Given the description of an element on the screen output the (x, y) to click on. 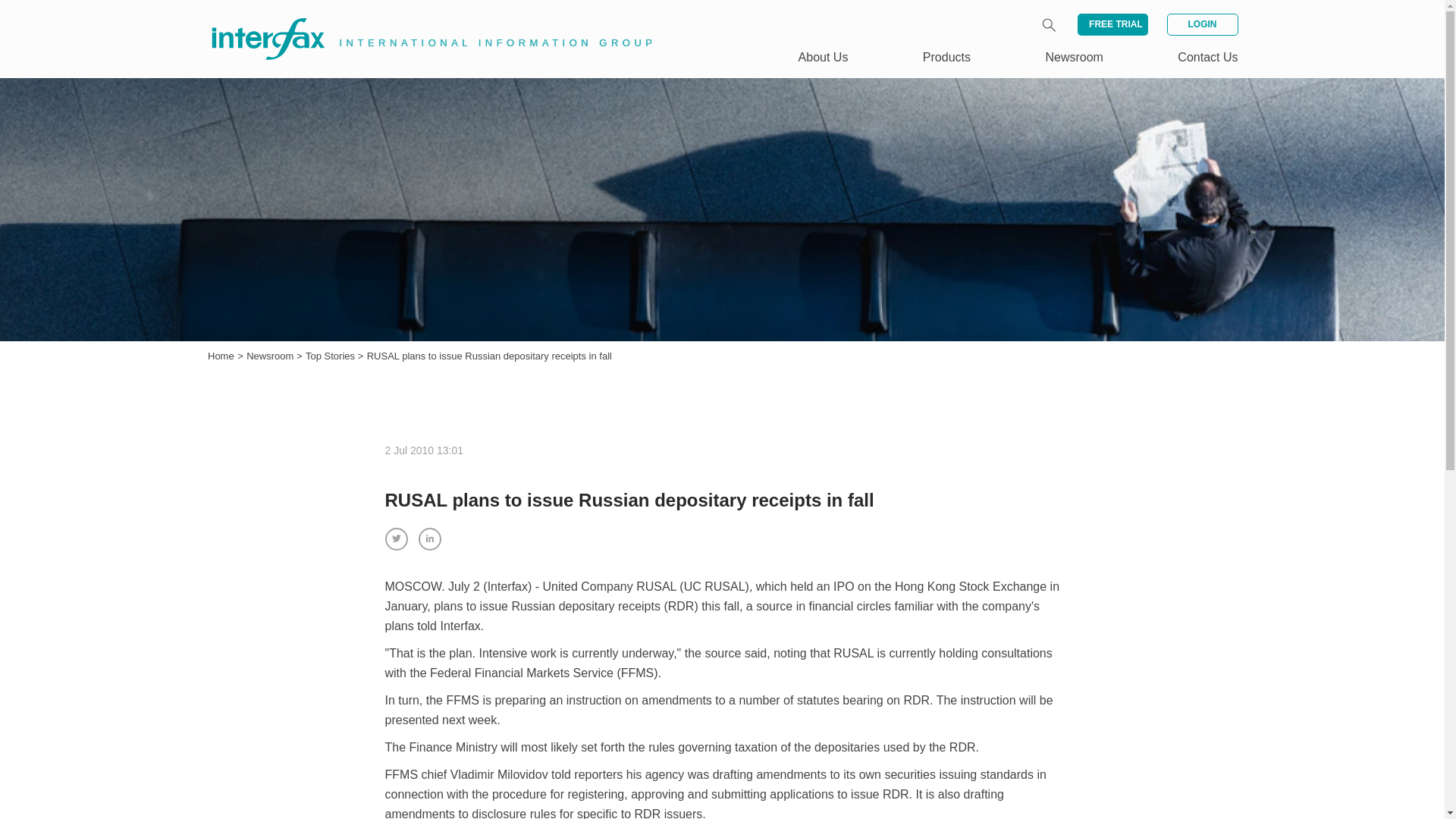
INTERNATIONAL INFORMATION GROUP (421, 20)
Contact Us (1207, 56)
Newsroom (1073, 56)
FREE TRIAL (1112, 24)
Newsroom (271, 355)
LOGIN (1201, 24)
Products (947, 56)
Home (221, 355)
About Us (822, 56)
Newsroom (271, 355)
Top Stories (331, 355)
Contact Us (1207, 56)
